Given the description of an element on the screen output the (x, y) to click on. 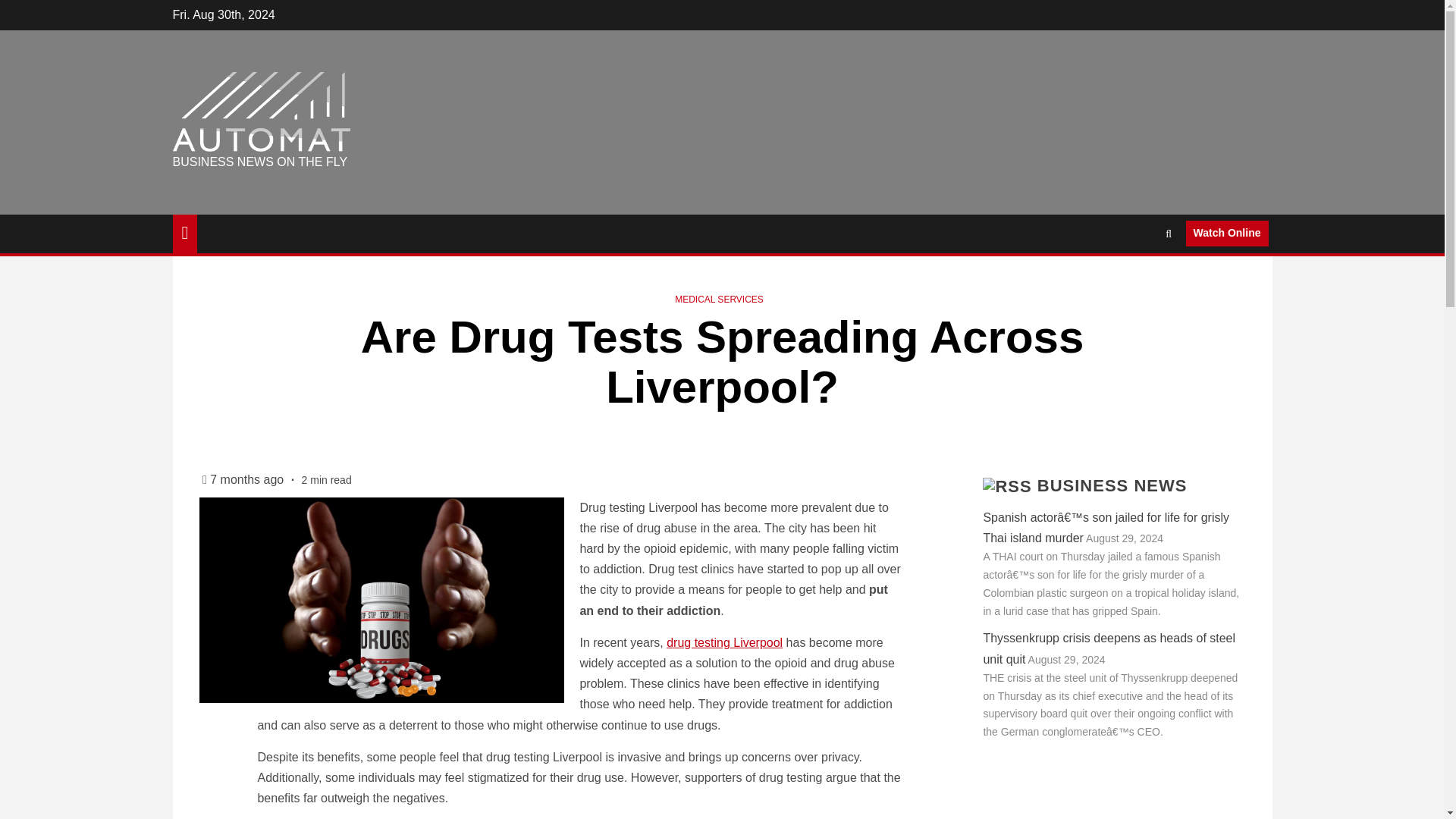
Thyssenkrupp crisis deepens as heads of steel unit quit (1108, 648)
drug testing Liverpool (724, 642)
MEDICAL SERVICES (718, 299)
Search (1138, 279)
Watch Online (1227, 233)
BUSINESS NEWS (1112, 485)
